Given the description of an element on the screen output the (x, y) to click on. 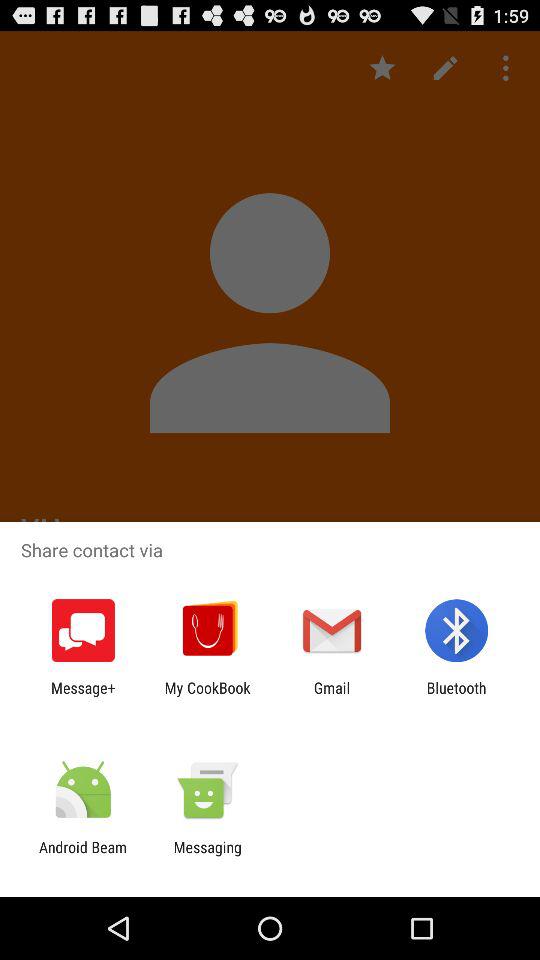
select the icon next to gmail icon (207, 696)
